Given the description of an element on the screen output the (x, y) to click on. 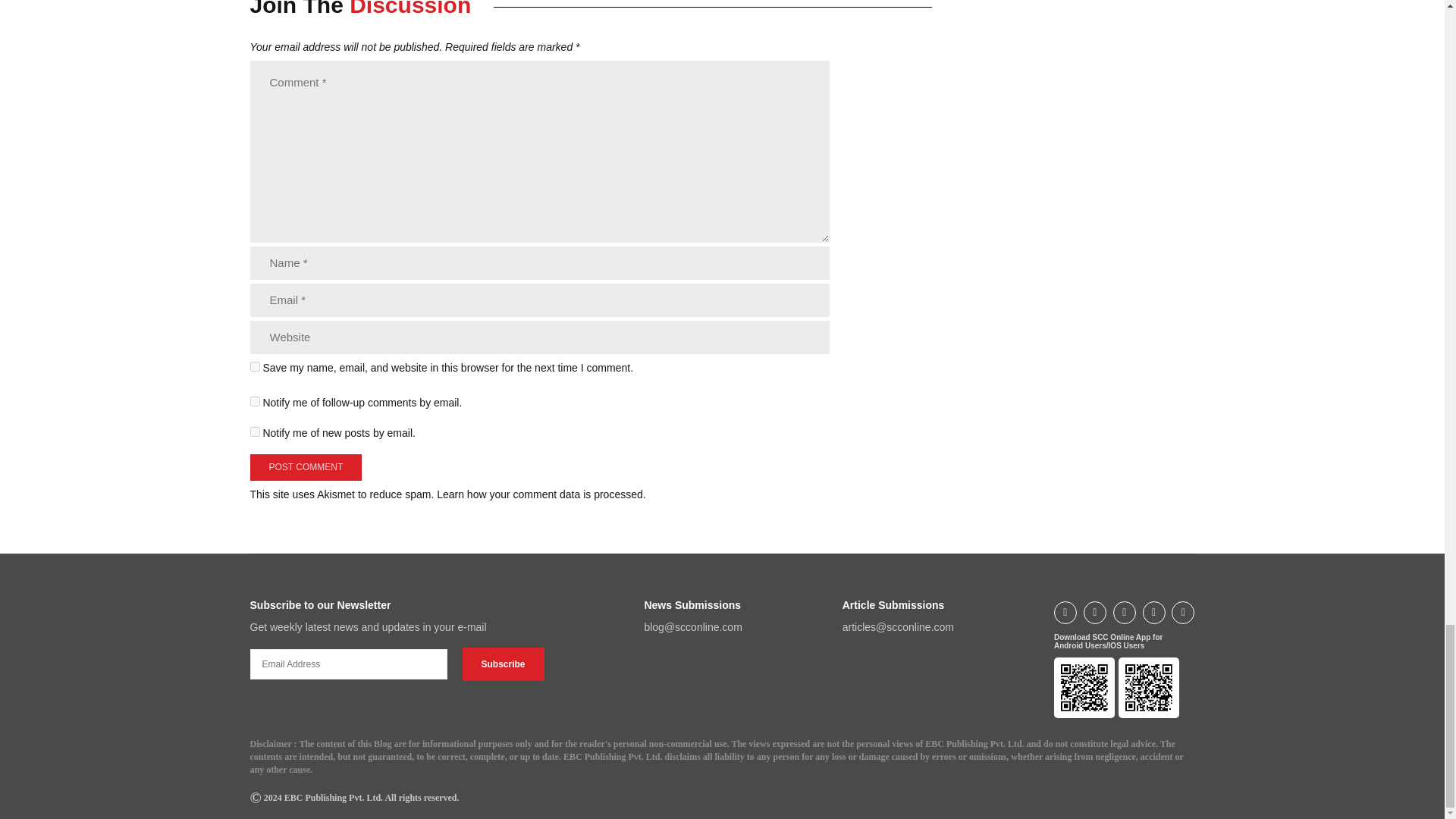
subscribe (255, 401)
subscribe (255, 431)
yes (255, 366)
Post Comment (306, 467)
Subscribe (503, 663)
